Given the description of an element on the screen output the (x, y) to click on. 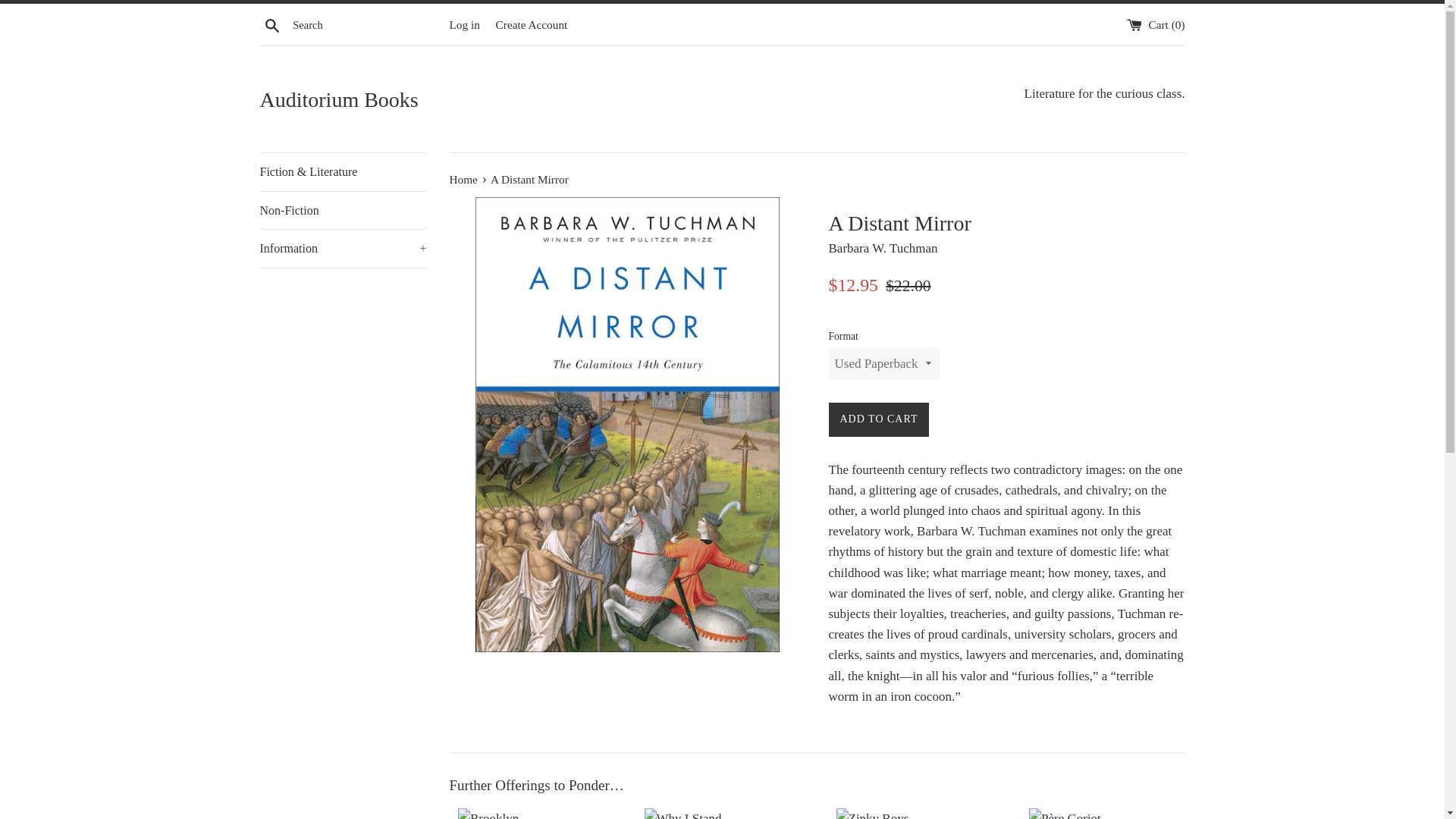
Brooklyn (532, 813)
Back to the frontpage (464, 178)
Why I Stand (722, 813)
Search (271, 24)
ADD TO CART (878, 419)
Log in (463, 24)
Zinky Boys (911, 813)
Home (464, 178)
Non-Fiction (342, 210)
Create Account (531, 24)
Auditorium Books (490, 99)
